Given the description of an element on the screen output the (x, y) to click on. 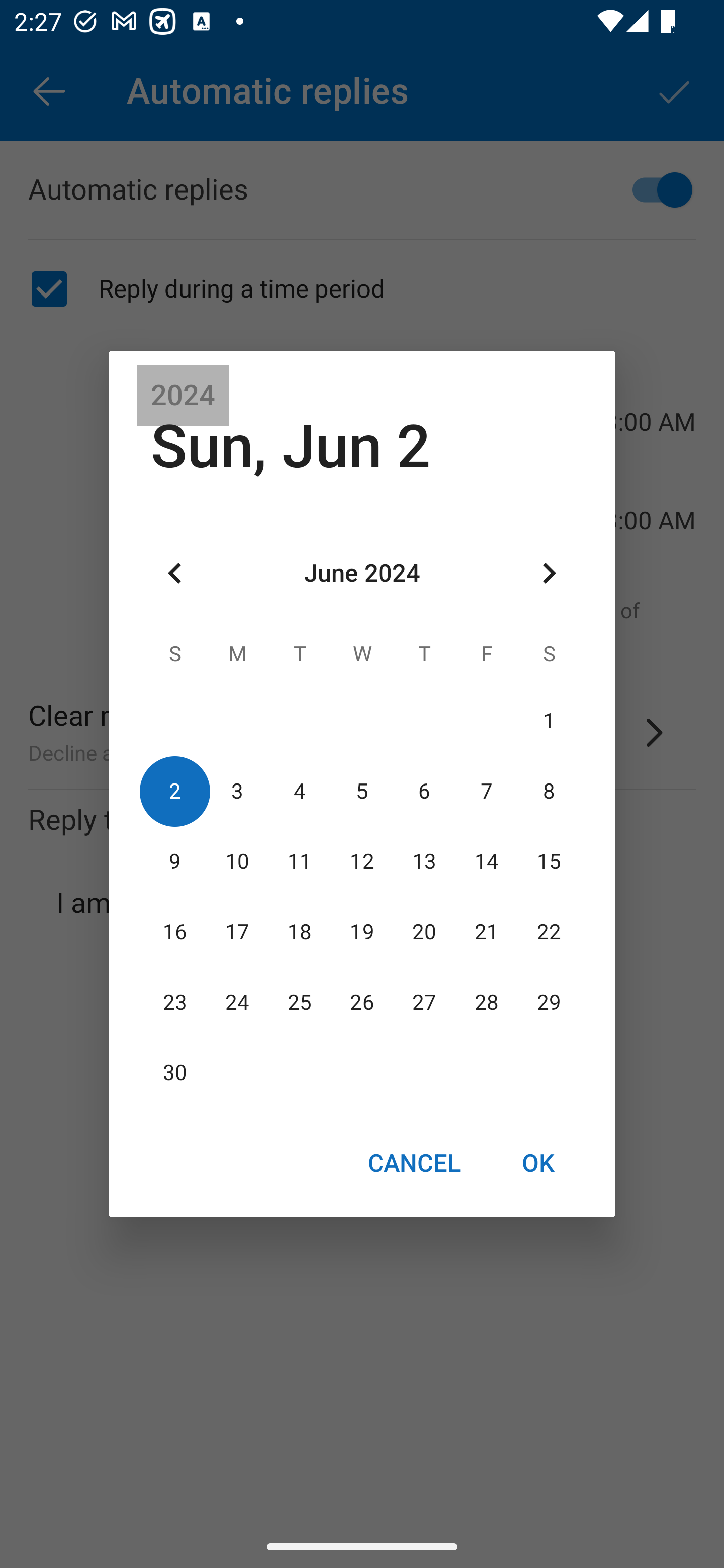
2024 (182, 395)
Sun, Jun 2 (290, 446)
Previous month (174, 573)
Next month (548, 573)
1 01 June 2024 (548, 720)
2 02 June 2024 (175, 790)
3 03 June 2024 (237, 790)
4 04 June 2024 (299, 790)
5 05 June 2024 (361, 790)
6 06 June 2024 (424, 790)
7 07 June 2024 (486, 790)
8 08 June 2024 (548, 790)
9 09 June 2024 (175, 861)
10 10 June 2024 (237, 861)
11 11 June 2024 (299, 861)
12 12 June 2024 (361, 861)
13 13 June 2024 (424, 861)
14 14 June 2024 (486, 861)
15 15 June 2024 (548, 861)
16 16 June 2024 (175, 931)
17 17 June 2024 (237, 931)
18 18 June 2024 (299, 931)
19 19 June 2024 (361, 931)
20 20 June 2024 (424, 931)
21 21 June 2024 (486, 931)
22 22 June 2024 (548, 931)
23 23 June 2024 (175, 1002)
24 24 June 2024 (237, 1002)
25 25 June 2024 (299, 1002)
26 26 June 2024 (361, 1002)
27 27 June 2024 (424, 1002)
28 28 June 2024 (486, 1002)
29 29 June 2024 (548, 1002)
30 30 June 2024 (175, 1073)
CANCEL (413, 1162)
OK (537, 1162)
